Given the description of an element on the screen output the (x, y) to click on. 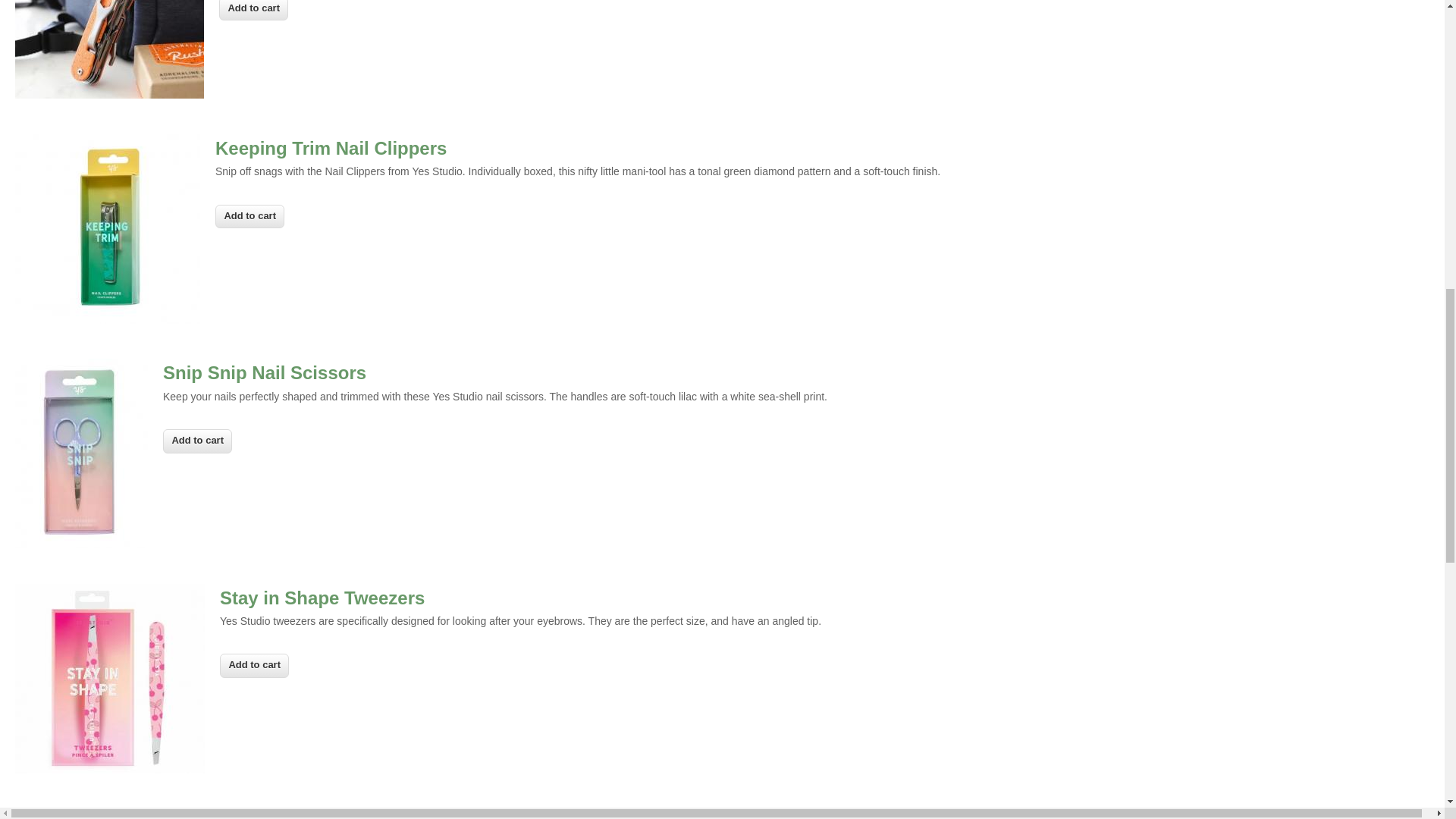
Add to cart (253, 665)
Add to cart (197, 441)
Add to cart (249, 216)
Add to cart (197, 441)
Add to cart (253, 665)
Add to cart (253, 10)
Stay in Shape Tweezers (322, 598)
Snip Snip Nail Scissors (264, 372)
Keeping Trim Nail Clippers (330, 148)
Add to cart (253, 10)
